Given the description of an element on the screen output the (x, y) to click on. 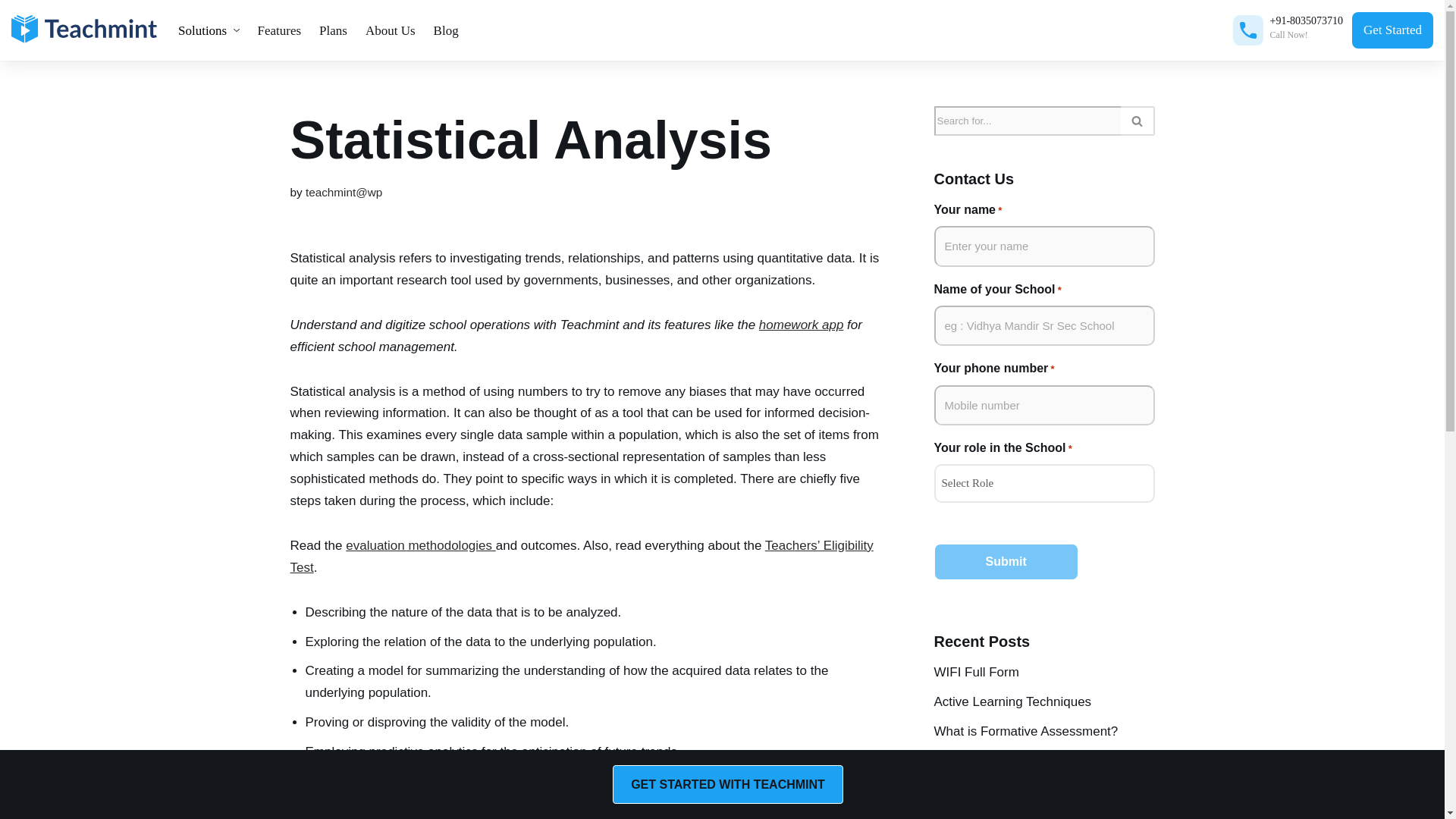
Submit (1006, 561)
Features (279, 30)
About Us (390, 30)
Blog (446, 30)
Skip to content (11, 31)
Plans (333, 30)
